Given the description of an element on the screen output the (x, y) to click on. 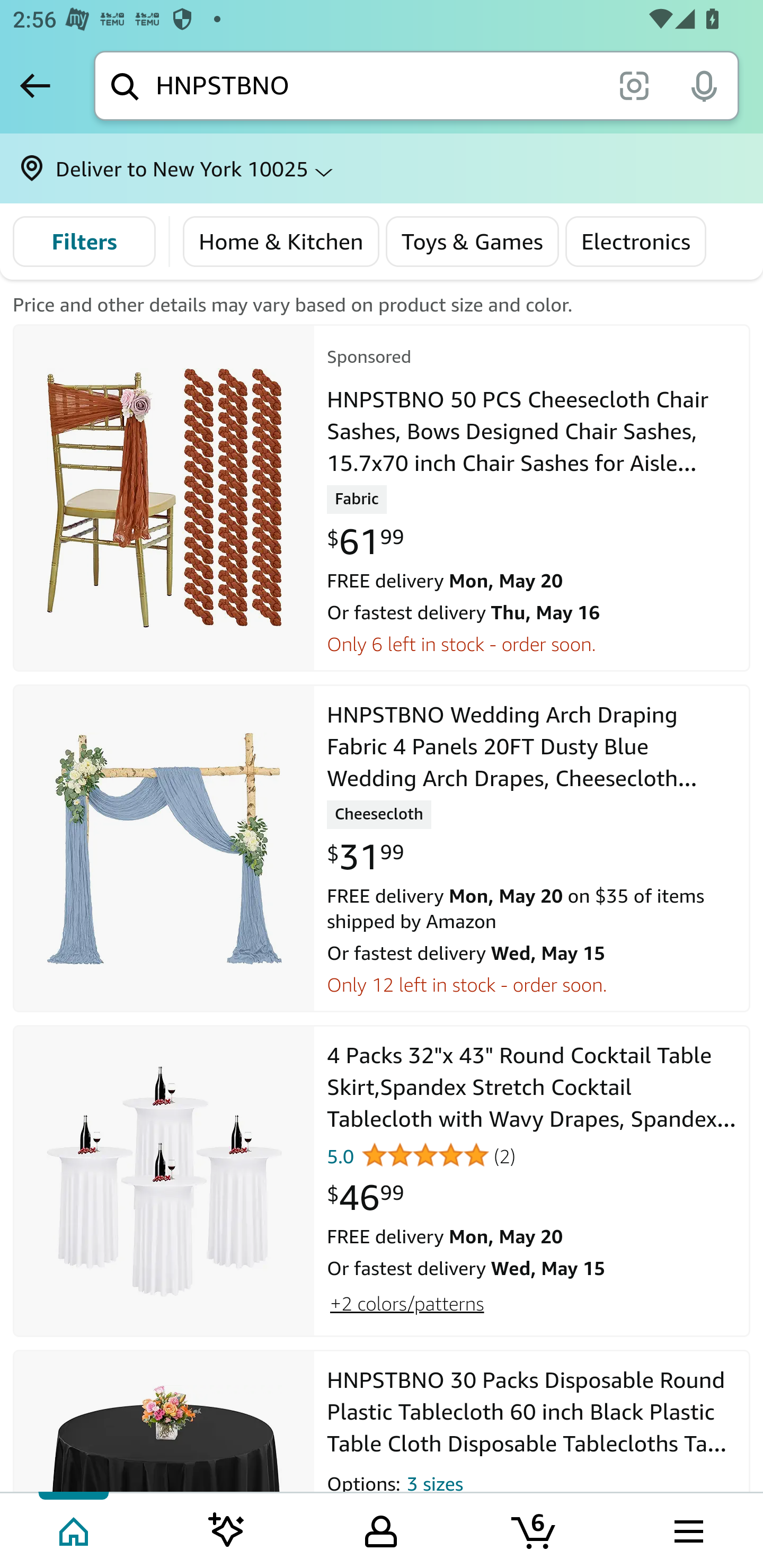
Back (35, 85)
scan it (633, 85)
Deliver to New York 10025 ⌵ (381, 168)
Filters (83, 241)
Home & Kitchen (281, 241)
Toys & Games (471, 241)
Electronics (635, 241)
+2 colors/patterns (406, 1303)
3 sizes (434, 1487)
Home Tab 1 of 5 (75, 1529)
Inspire feed Tab 2 of 5 (227, 1529)
Your Amazon.com Tab 3 of 5 (380, 1529)
Cart 6 items Tab 4 of 5 6 (534, 1529)
Browse menu Tab 5 of 5 (687, 1529)
